Given the description of an element on the screen output the (x, y) to click on. 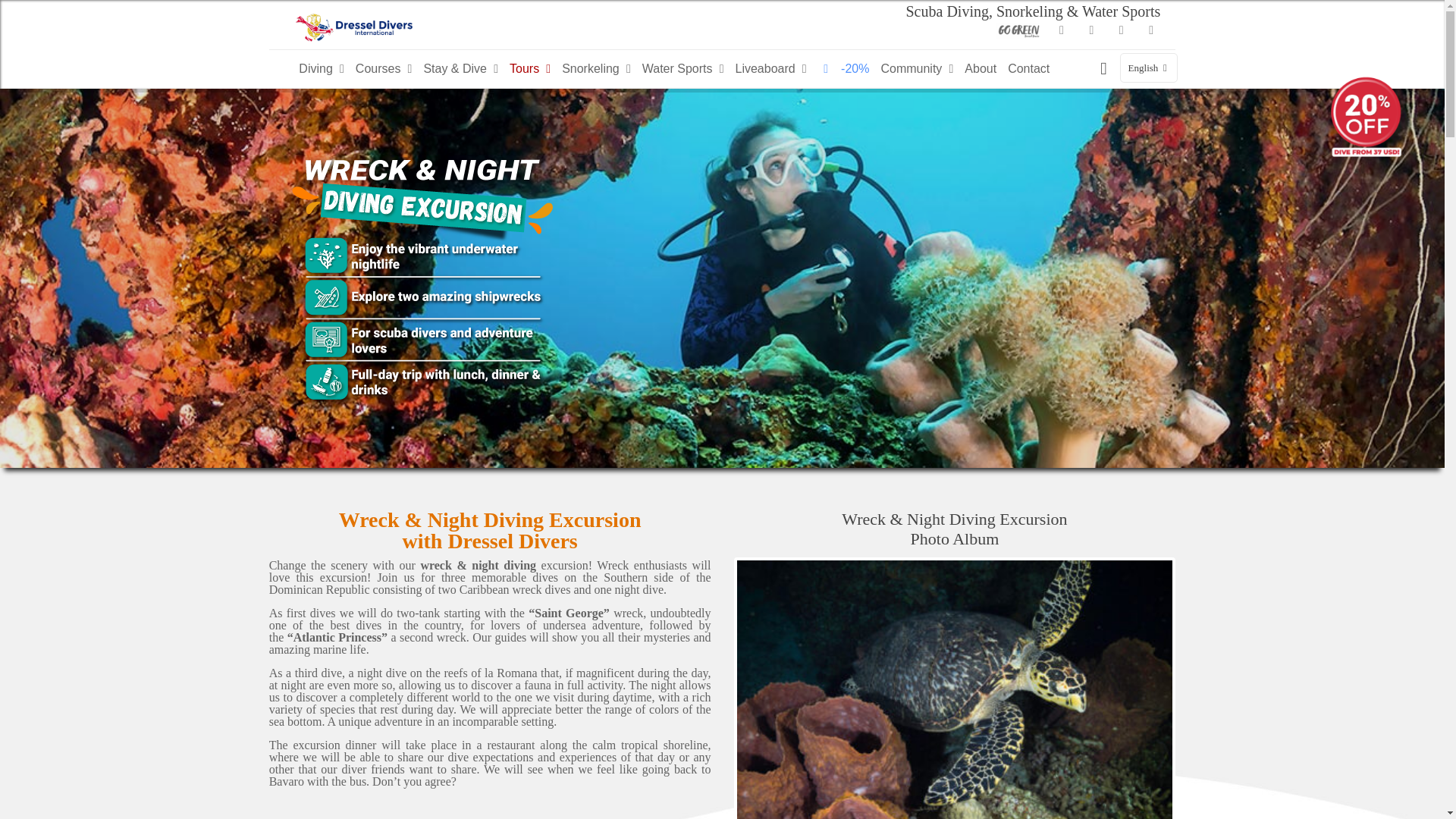
PADI SCUBA DIVING COURSES with Dressel Divers (386, 68)
Dressel Divers (354, 24)
Courses (386, 68)
SCUBA DIVING with Dressel Divers (322, 68)
